Given the description of an element on the screen output the (x, y) to click on. 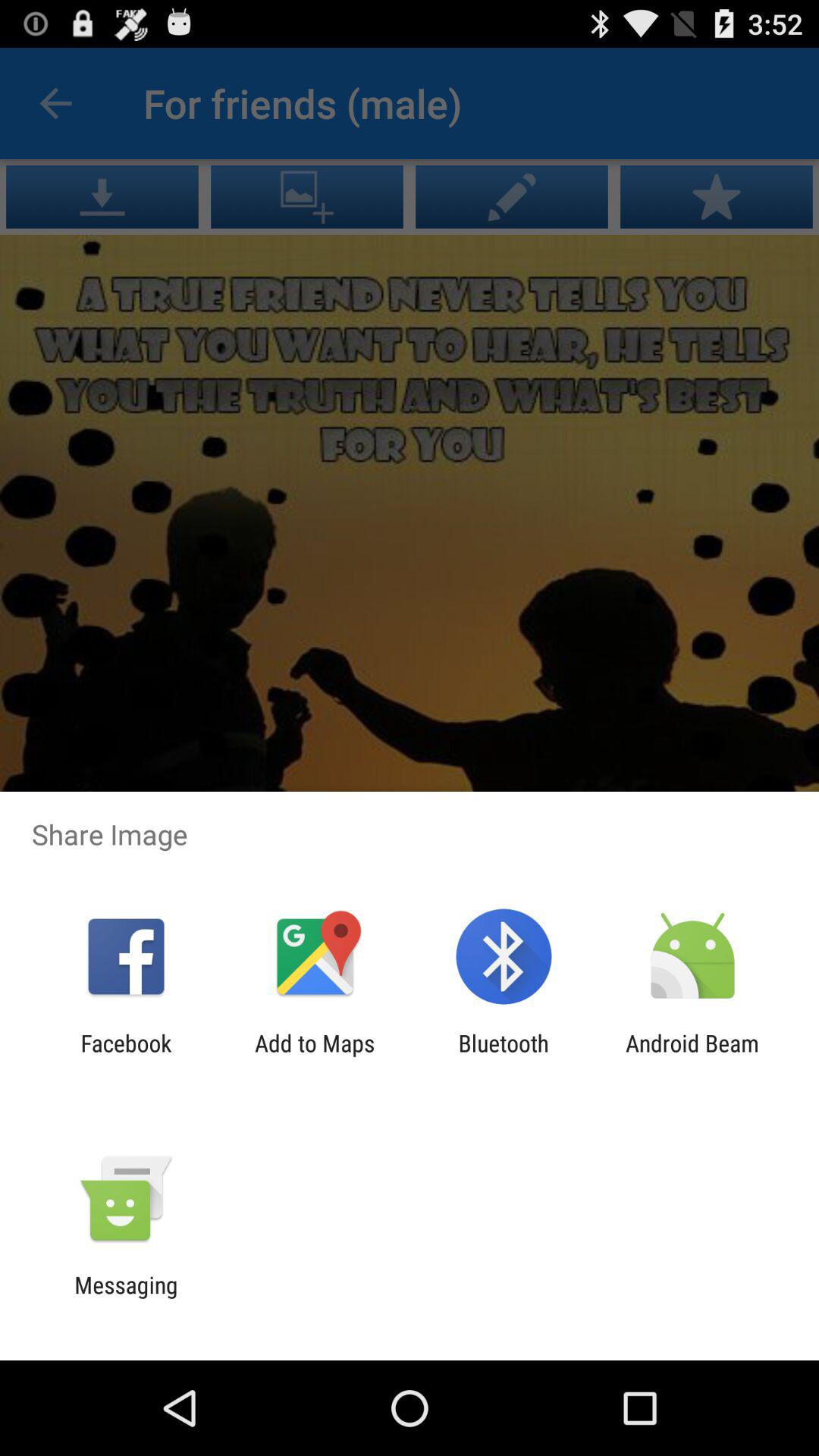
turn off item next to the facebook item (314, 1056)
